Given the description of an element on the screen output the (x, y) to click on. 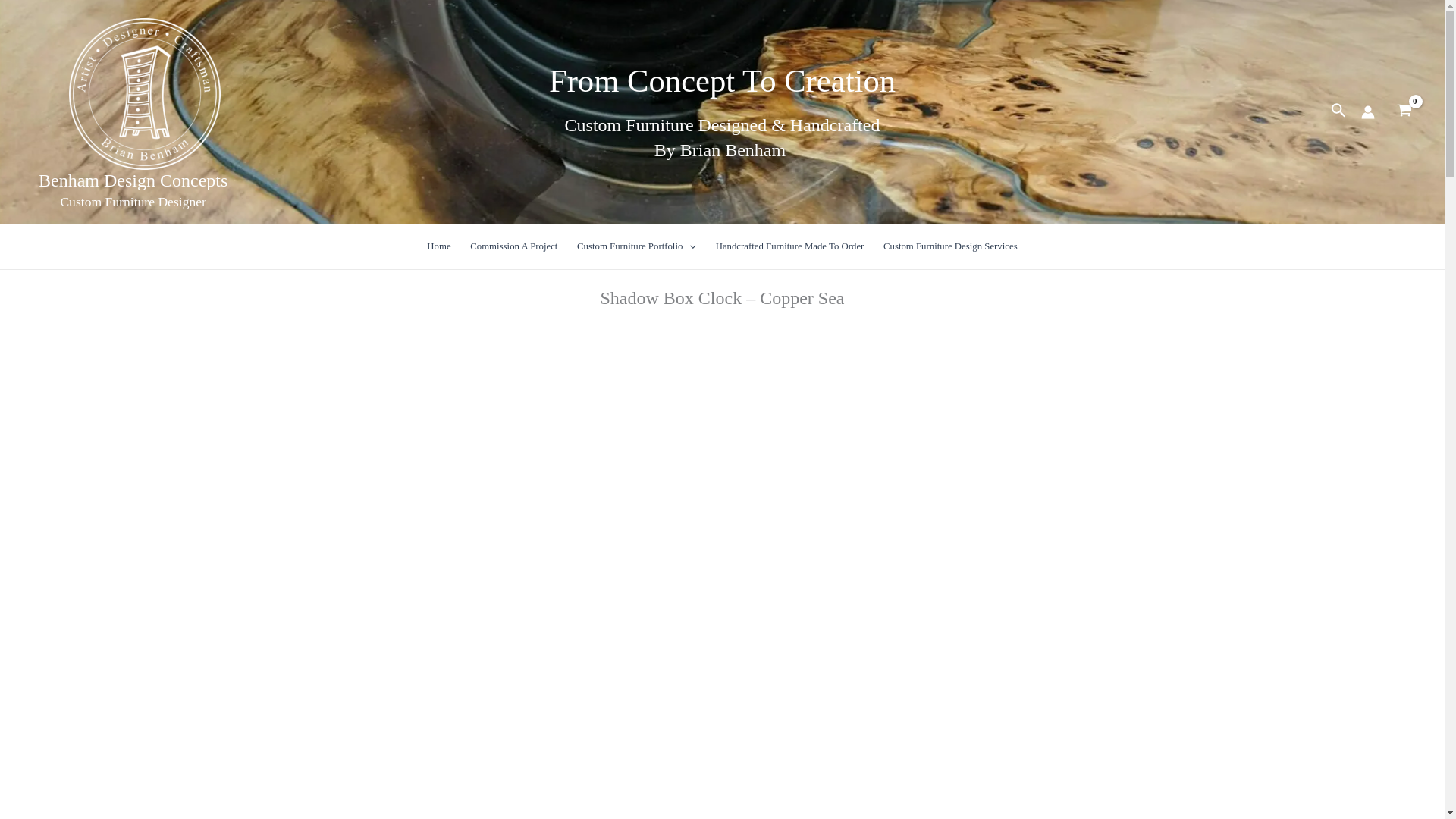
Custom Furniture Portfolio (636, 246)
Benham Design Concepts (133, 180)
Commission A Project (513, 246)
Home (439, 246)
Handcrafted Furniture Made to Order in Colroado (789, 246)
Custom Furniture Design services (949, 246)
Custom Furniture Design Services (949, 246)
Place Order For Custom Furniture (513, 246)
Handcrafted Furniture Made To Order (789, 246)
